Given the description of an element on the screen output the (x, y) to click on. 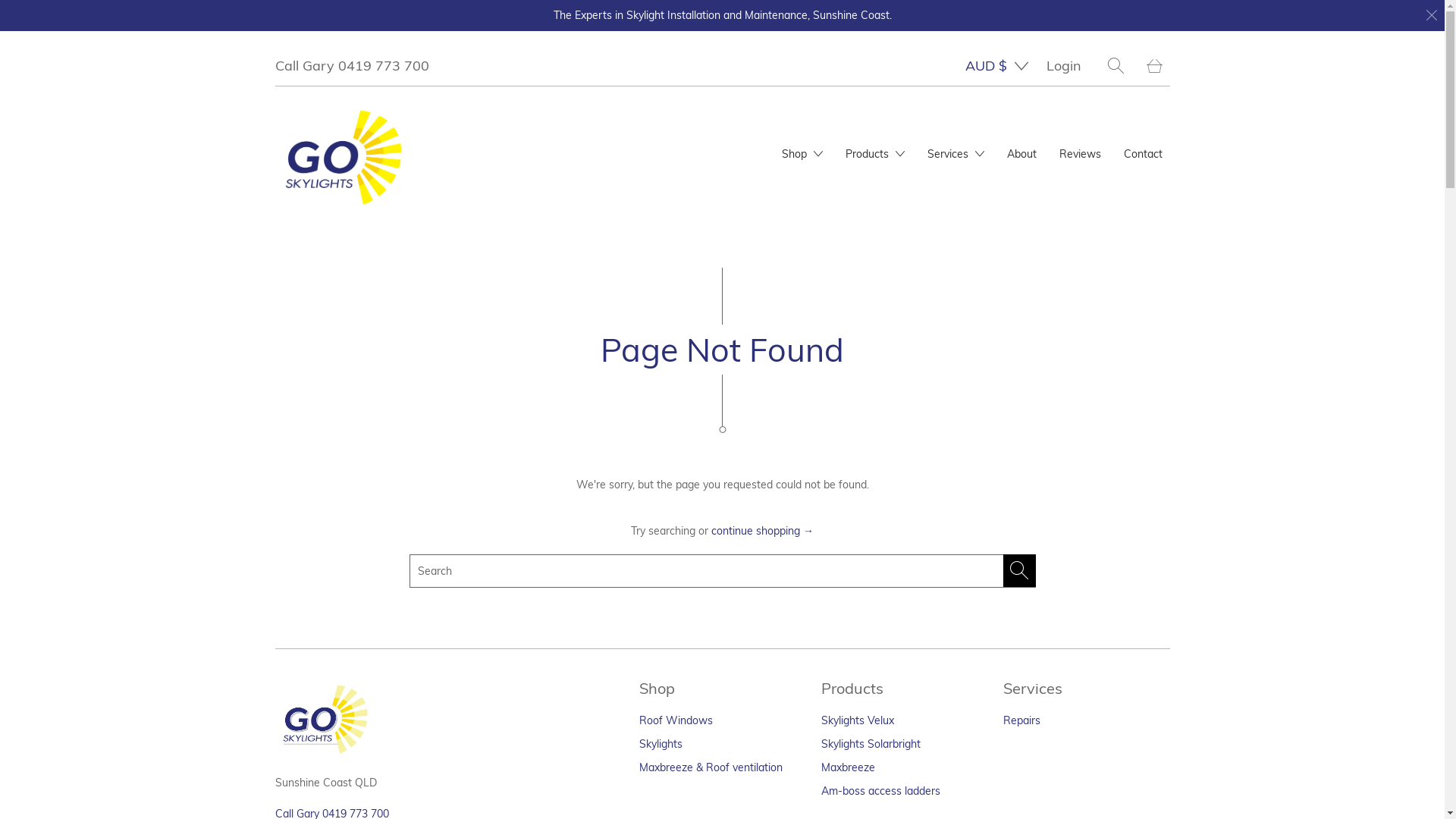
Login Element type: text (1063, 65)
UGX Element type: text (1138, 509)
UZS Element type: text (1138, 609)
AUD Element type: text (991, 273)
BSD Element type: text (991, 607)
BIF Element type: text (991, 507)
Maxbreeze & Roof ventilation Element type: text (709, 767)
BZD Element type: text (991, 673)
Roof Windows Element type: text (675, 720)
Services Element type: text (955, 153)
XCD Element type: text (1138, 776)
AFN Element type: text (991, 139)
UAH Element type: text (1138, 475)
USD Element type: text (1138, 542)
Am-boss access ladders Element type: text (879, 790)
BGN Element type: text (991, 473)
THB Element type: text (1138, 275)
TTD Element type: text (1138, 375)
Products Element type: text (874, 153)
CAD Element type: text (991, 707)
BND Element type: text (991, 540)
UYU Element type: text (1138, 576)
SHP Element type: text (1138, 175)
TJS Element type: text (1138, 309)
Reviews Element type: text (1079, 153)
ALL Element type: text (991, 173)
Maxbreeze Element type: text (847, 767)
Call Gary 0419 773 700 Element type: text (351, 65)
SGD Element type: text (1138, 142)
ANG Element type: text (991, 240)
TOP Element type: text (1138, 342)
AZN Element type: text (991, 340)
AUD $ Element type: text (993, 65)
TWD Element type: text (1138, 409)
AED Element type: text (991, 106)
Search Element type: hover (1114, 65)
BAM Element type: text (991, 373)
CDF Element type: text (991, 740)
Skylights Velux Element type: text (856, 720)
VND Element type: text (1138, 642)
Contact Element type: text (1143, 153)
WST Element type: text (1138, 709)
Shop Element type: text (801, 153)
SEK Element type: text (1138, 108)
VUV Element type: text (1138, 676)
Repairs Element type: text (1020, 720)
BWP Element type: text (991, 640)
AMD Element type: text (991, 206)
BDT Element type: text (991, 440)
Skylights Element type: text (659, 743)
XAF Element type: text (1138, 742)
About Element type: text (1021, 153)
SAR Element type: text (1138, 42)
BBD Element type: text (991, 406)
BOB Element type: text (991, 573)
STD Element type: text (1138, 242)
Translation missing: en.layout.general.title Element type: text (1154, 65)
TZS Element type: text (1138, 442)
SLL Element type: text (1138, 208)
SBD Element type: text (1138, 75)
Skylights Solarbright Element type: text (869, 743)
AWG Element type: text (991, 306)
CHF Element type: text (991, 773)
